Given the description of an element on the screen output the (x, y) to click on. 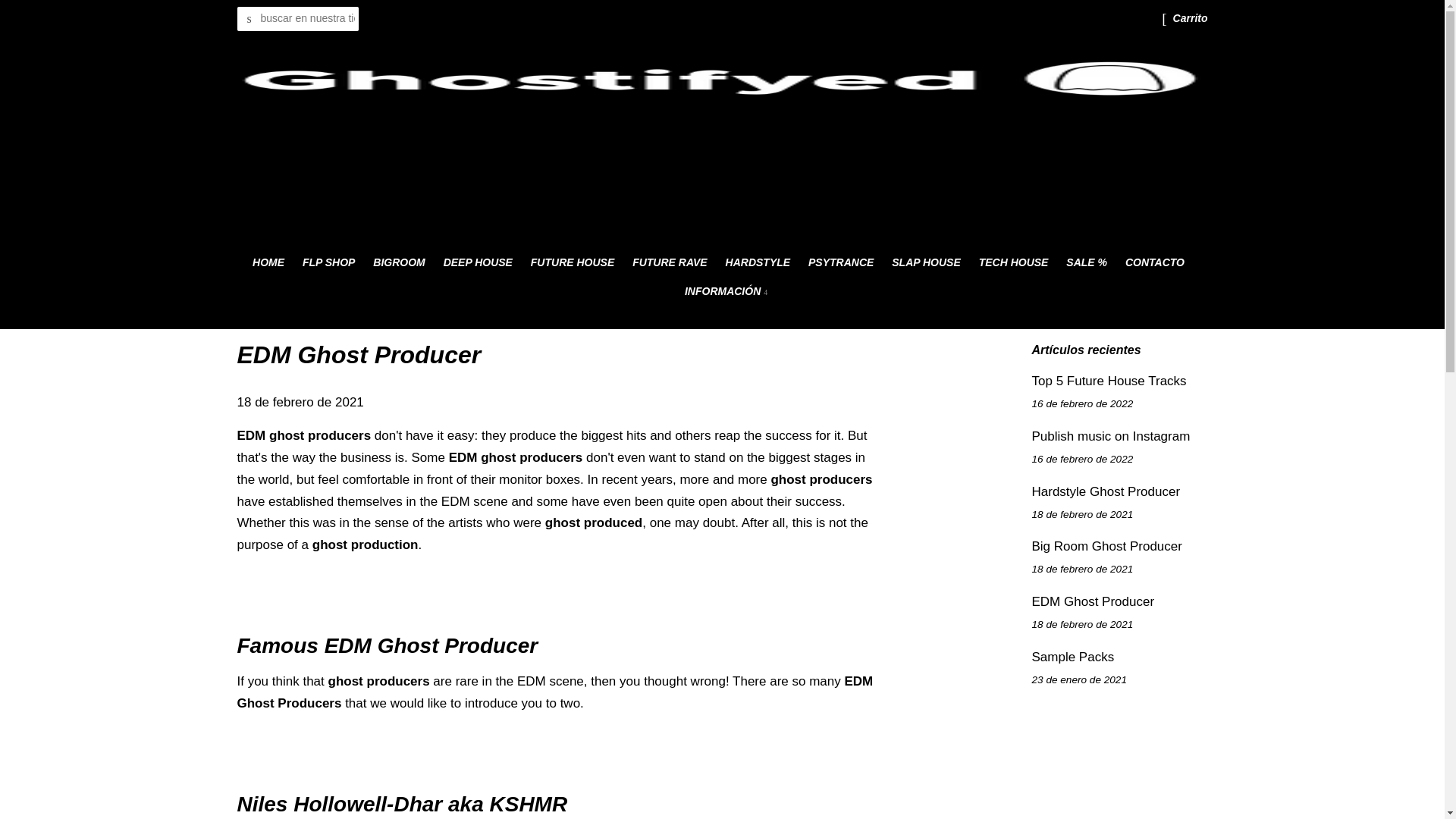
HOME (271, 262)
SLAP HOUSE (925, 262)
EDM ghost producers (515, 457)
FLP SHOP (328, 262)
CONTACTO (1155, 262)
DEEP HOUSE (477, 262)
BUSCAR (247, 18)
TECH HOUSE (1014, 262)
PSYTRANCE (840, 262)
Carrito (1190, 18)
